Given the description of an element on the screen output the (x, y) to click on. 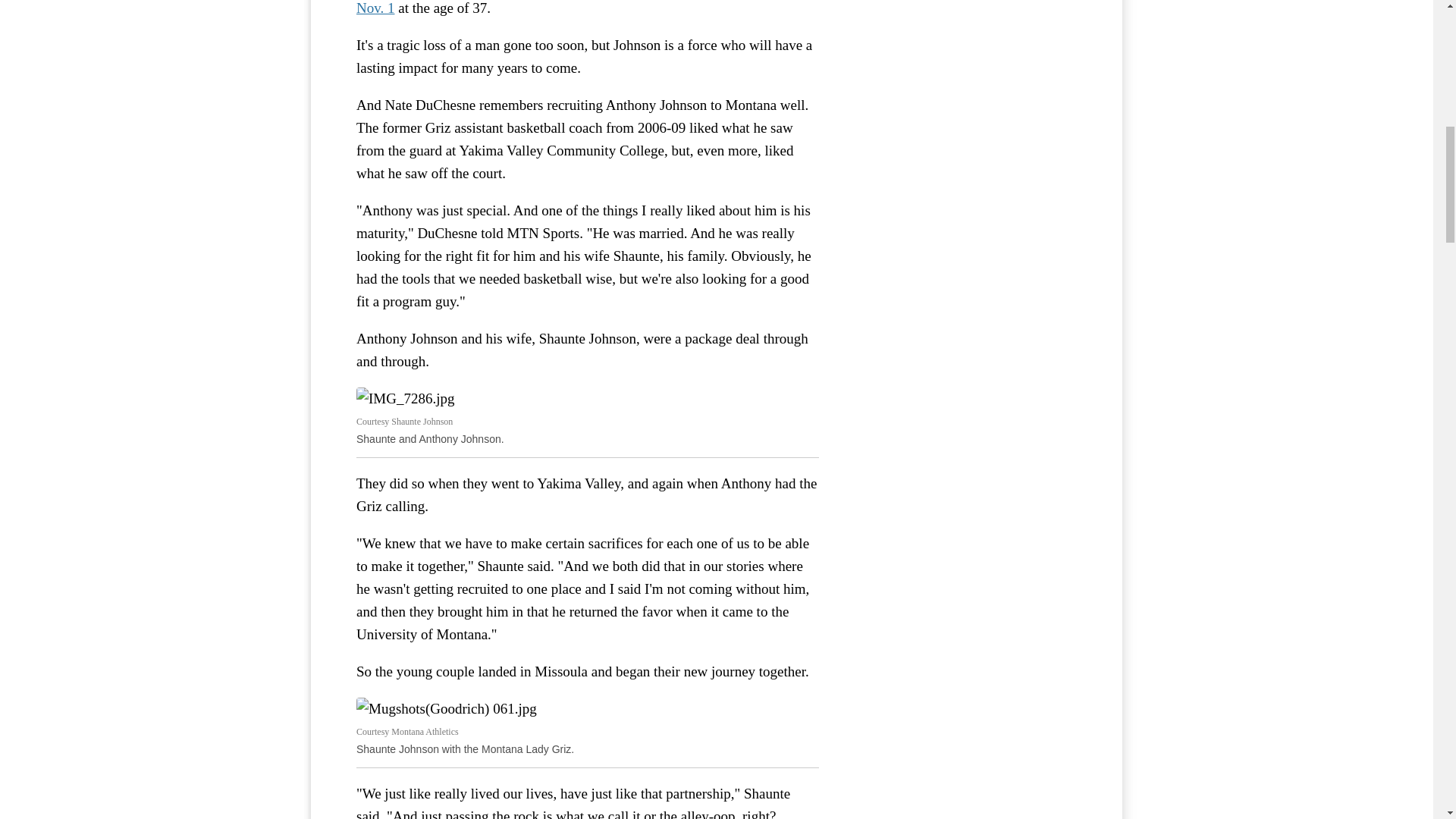
passed away on Nov. 1 (583, 7)
